Given the description of an element on the screen output the (x, y) to click on. 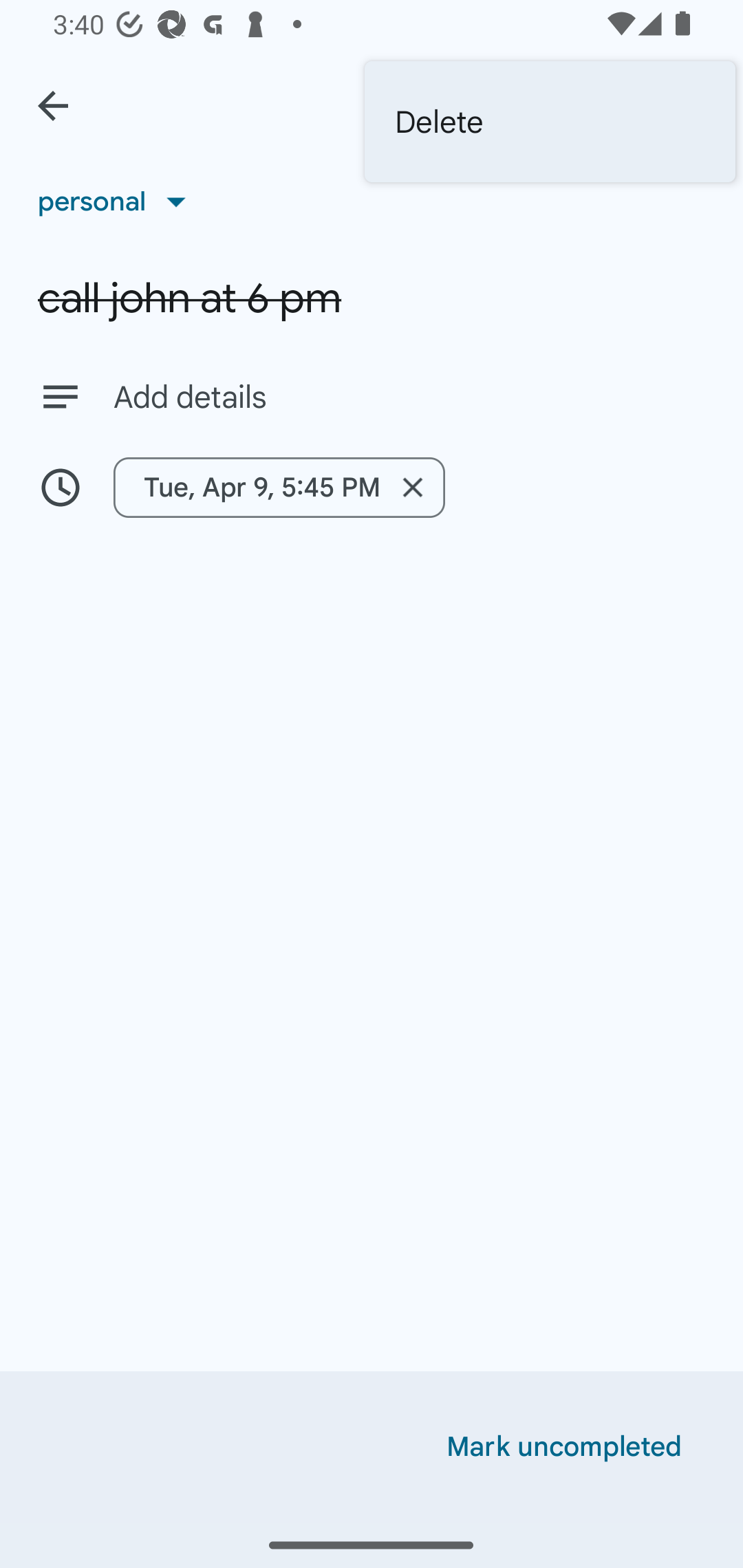
Delete (549, 121)
